Given the description of an element on the screen output the (x, y) to click on. 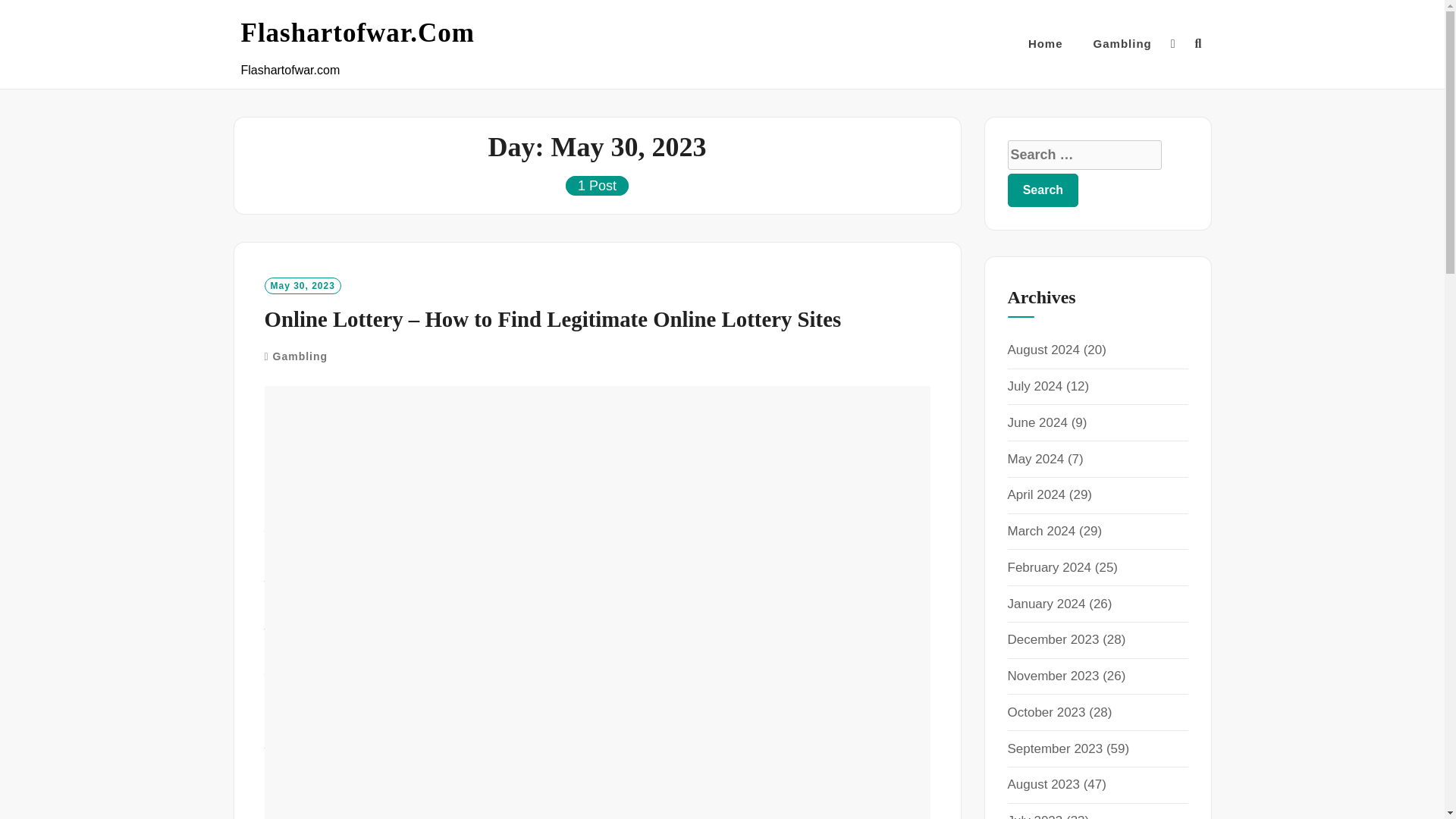
Home (1044, 44)
May 2024 (1035, 459)
Search (1042, 190)
April 2024 (1036, 494)
August 2024 (1042, 350)
January 2024 (1045, 603)
Search (1042, 190)
Gambling (301, 356)
December 2023 (1053, 639)
September 2023 (1054, 748)
